Given the description of an element on the screen output the (x, y) to click on. 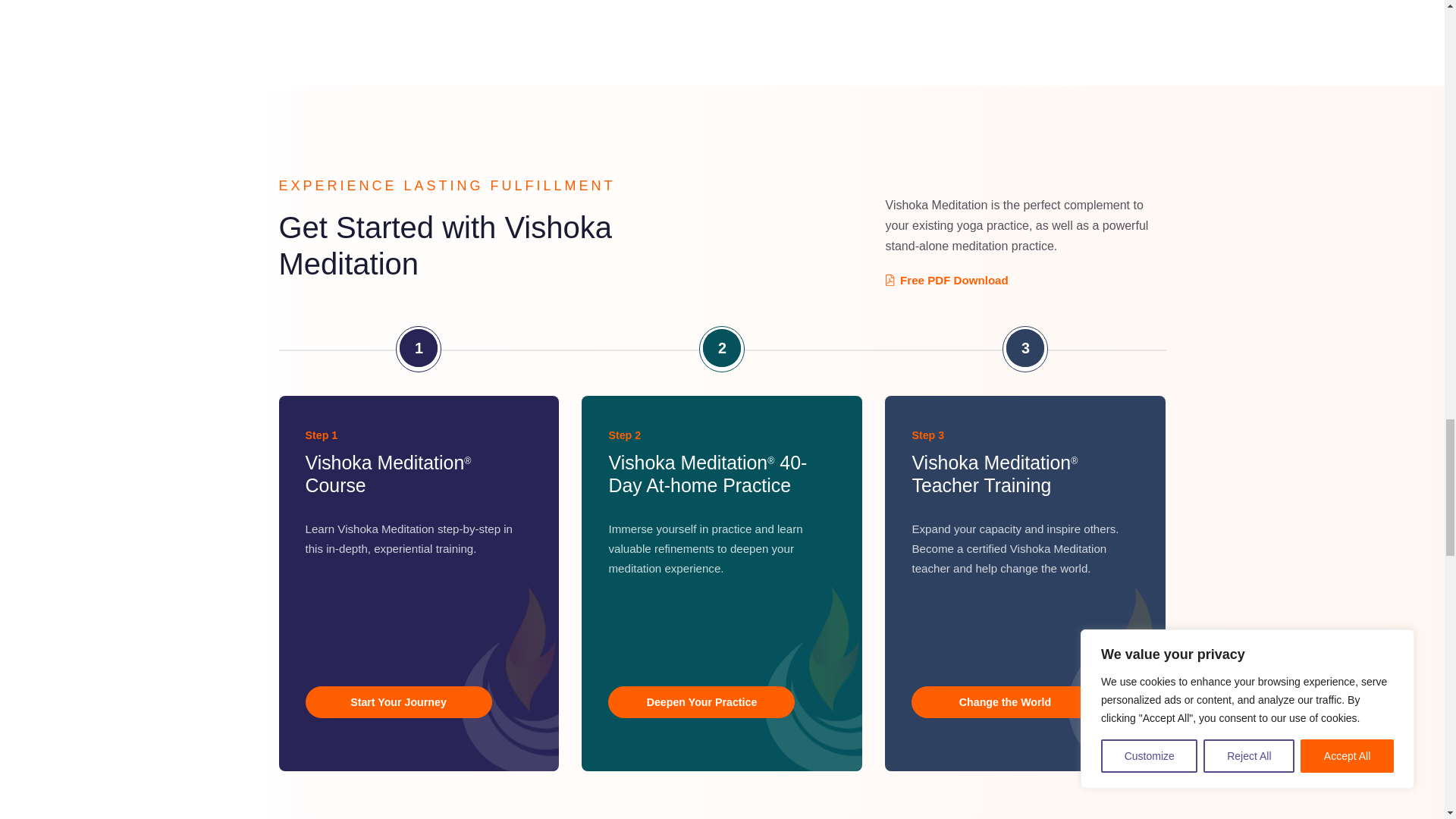
Deepen Your Practice (701, 702)
Start Your Journey (398, 702)
Free PDF Download (947, 279)
Change the World (1004, 702)
